Given the description of an element on the screen output the (x, y) to click on. 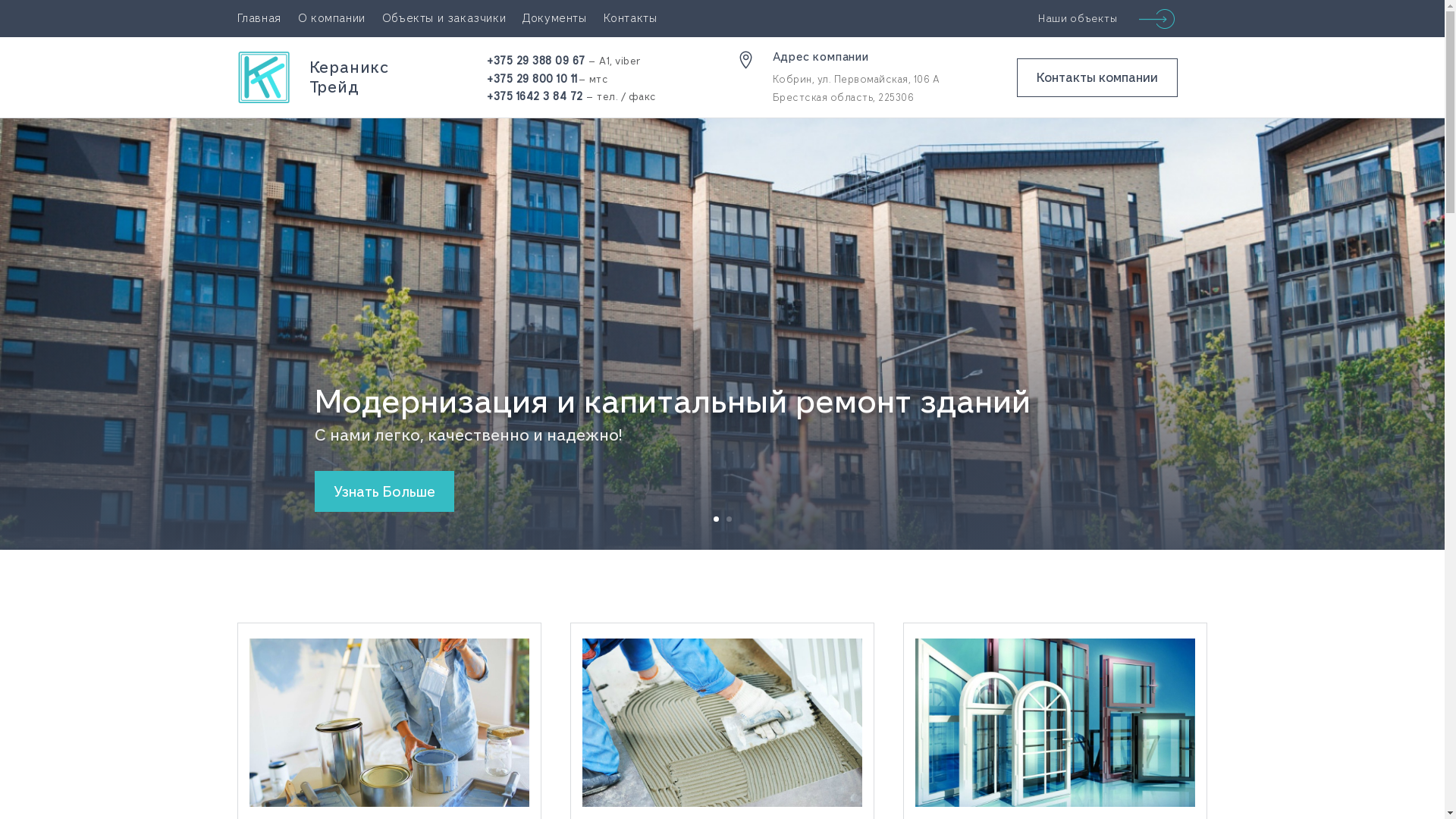
+375 29 388 09 67 Element type: text (535, 60)
+375 1642 3 84 72 Element type: text (534, 96)
u (2) Element type: hover (388, 722)
+375 29 800 10 11 Element type: text (531, 78)
u (1) Element type: hover (722, 722)
2 Element type: text (728, 518)
u (3) Element type: hover (1055, 722)
1 Element type: text (715, 518)
